Given the description of an element on the screen output the (x, y) to click on. 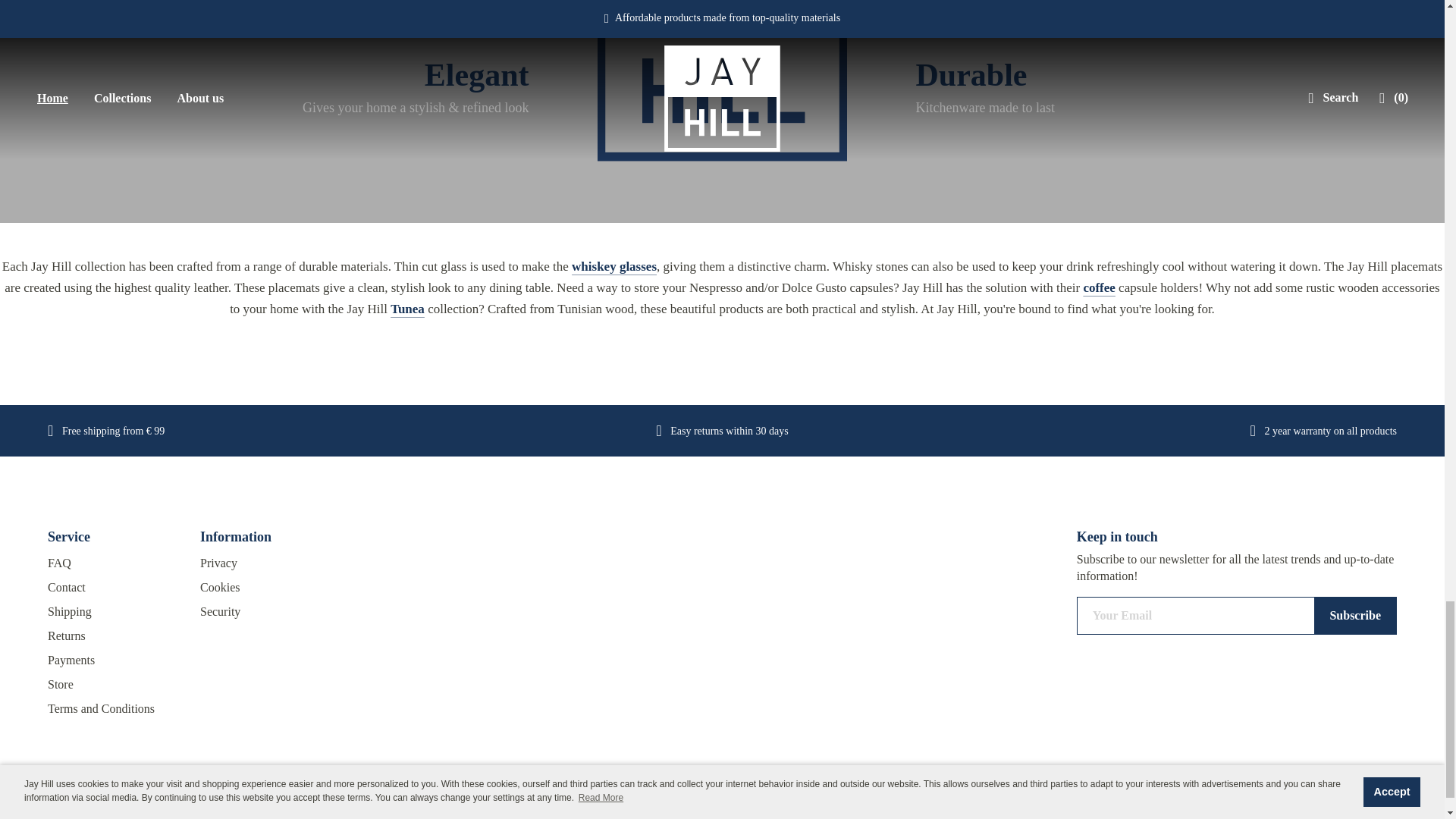
Cookies (265, 587)
Tunea (407, 309)
coffee (1099, 287)
Store (112, 684)
Returns (112, 636)
Shipping (112, 611)
FAQ (112, 563)
Subscribe (1355, 615)
Security (265, 611)
whiskey glasses (614, 266)
Terms and Conditions (112, 708)
Privacy (265, 563)
Payments (112, 660)
Contact (112, 587)
